Given the description of an element on the screen output the (x, y) to click on. 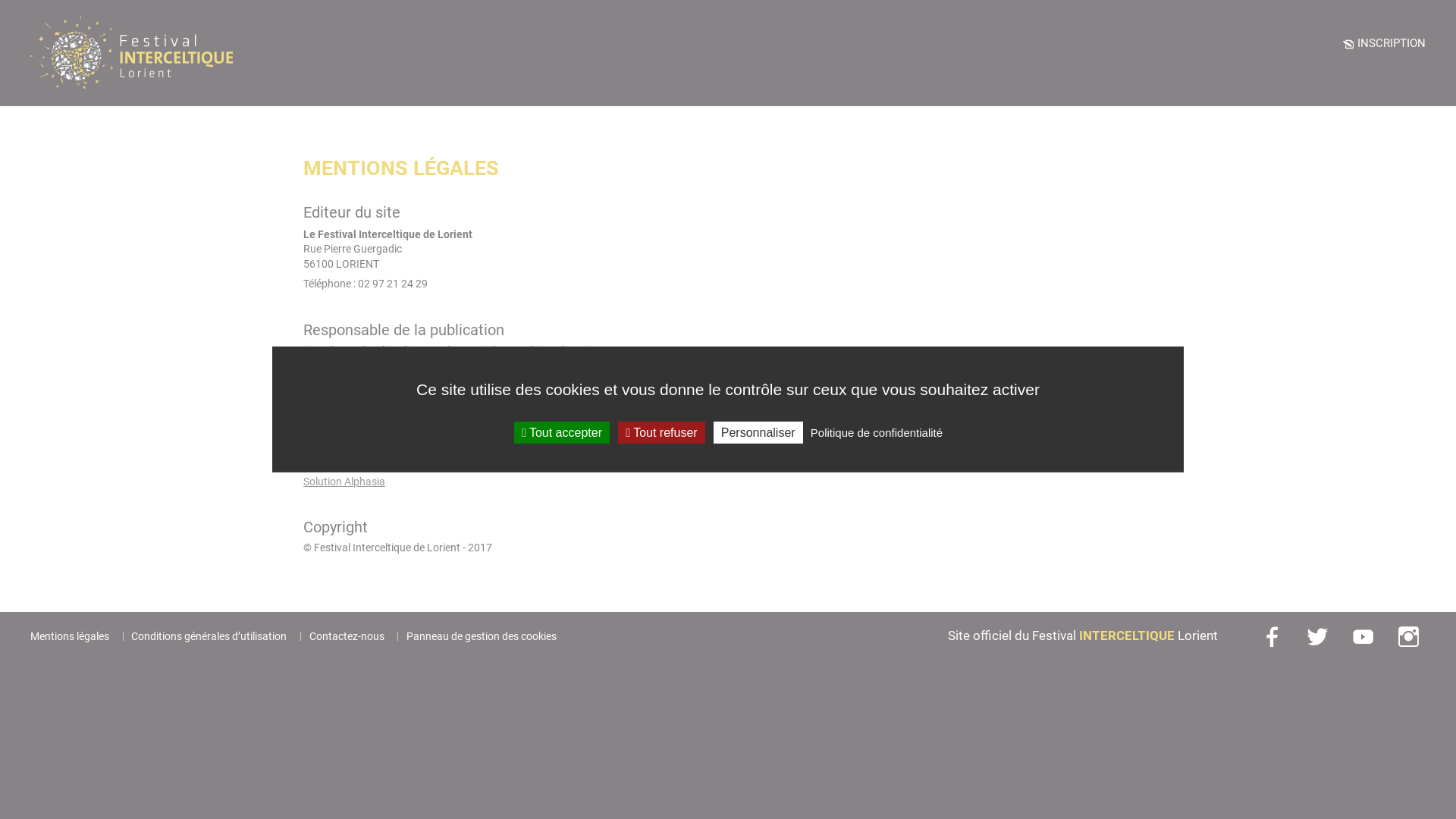
Personnaliser Element type: text (758, 432)
INSCRIPTION Element type: text (1383, 43)
Tout refuser Element type: text (661, 432)
Panneau de gestion des cookies Element type: text (481, 636)
Twitter Element type: text (1319, 636)
Youtube Element type: text (1364, 636)
Instagram Element type: text (1410, 636)
Solution Alphasia Element type: text (344, 481)
Facebook Element type: text (1273, 636)
Tout accepter Element type: text (561, 432)
Site officiel du Festival INTERCELTIQUE Lorient Element type: text (1082, 635)
Contactez-nous Element type: text (346, 636)
